Given the description of an element on the screen output the (x, y) to click on. 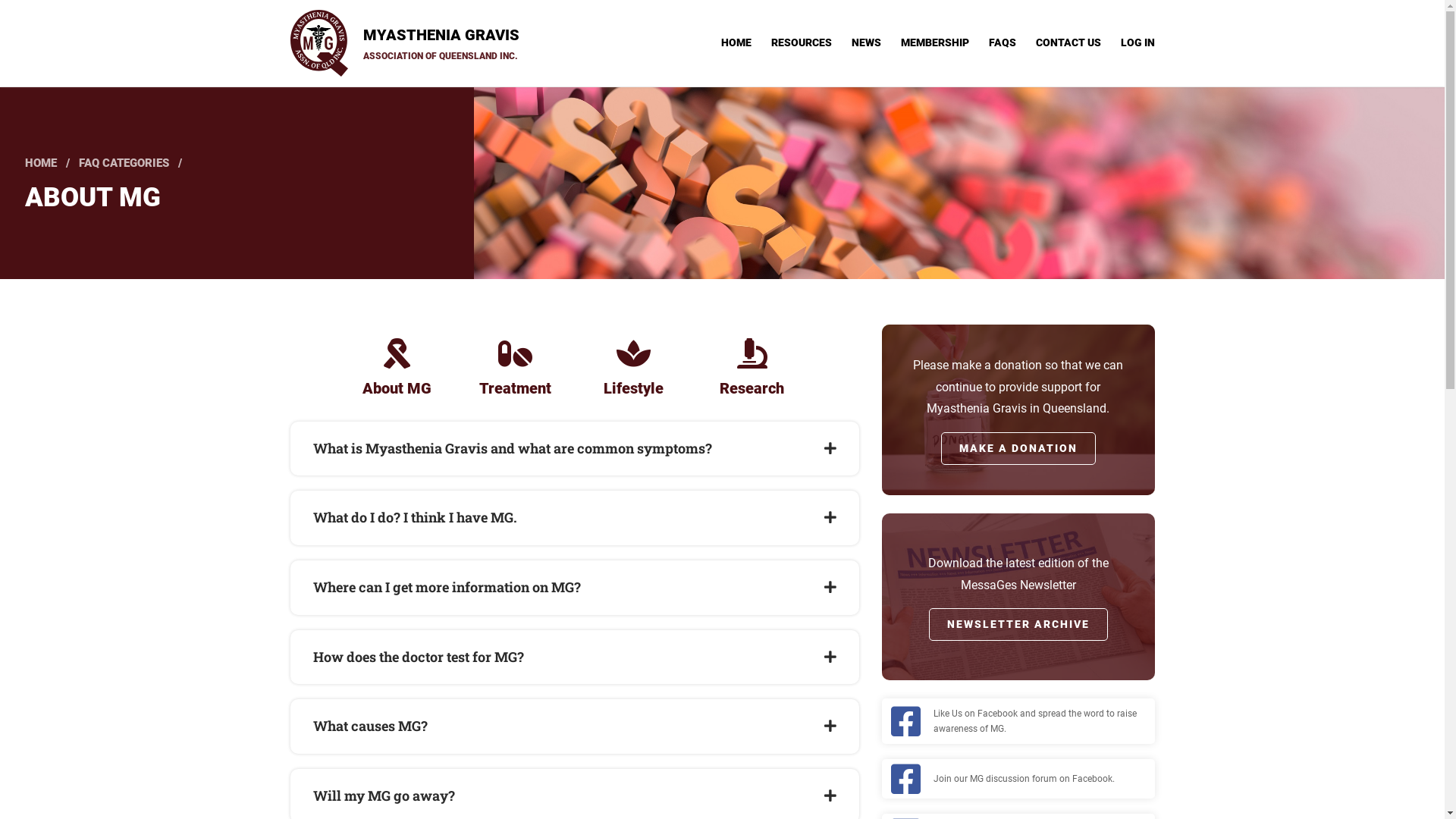
Treatment Element type: text (514, 366)
RESOURCES Element type: text (800, 42)
MEMBERSHIP Element type: text (934, 42)
FAQS Element type: text (1002, 42)
NEWS Element type: text (865, 42)
About MG Element type: text (396, 366)
Myasthenia Gravis - Association of Queensland Inc. Element type: hover (318, 42)
MYASTHENIA GRAVIS
ASSOCIATION OF QUEENSLAND INC. Element type: text (404, 43)
NEWSLETTER ARCHIVE Element type: text (1017, 624)
CONTACT US Element type: text (1068, 42)
Join our MG discussion forum on Facebook. Element type: text (1022, 778)
HOME Element type: text (735, 42)
Skip to main content Element type: text (0, 0)
FAQ CATEGORIES Element type: text (123, 162)
Lifestyle Element type: text (632, 366)
MAKE A DONATION Element type: text (1017, 448)
LOG IN Element type: text (1137, 42)
HOME Element type: text (40, 162)
Research Element type: text (752, 366)
